Given the description of an element on the screen output the (x, y) to click on. 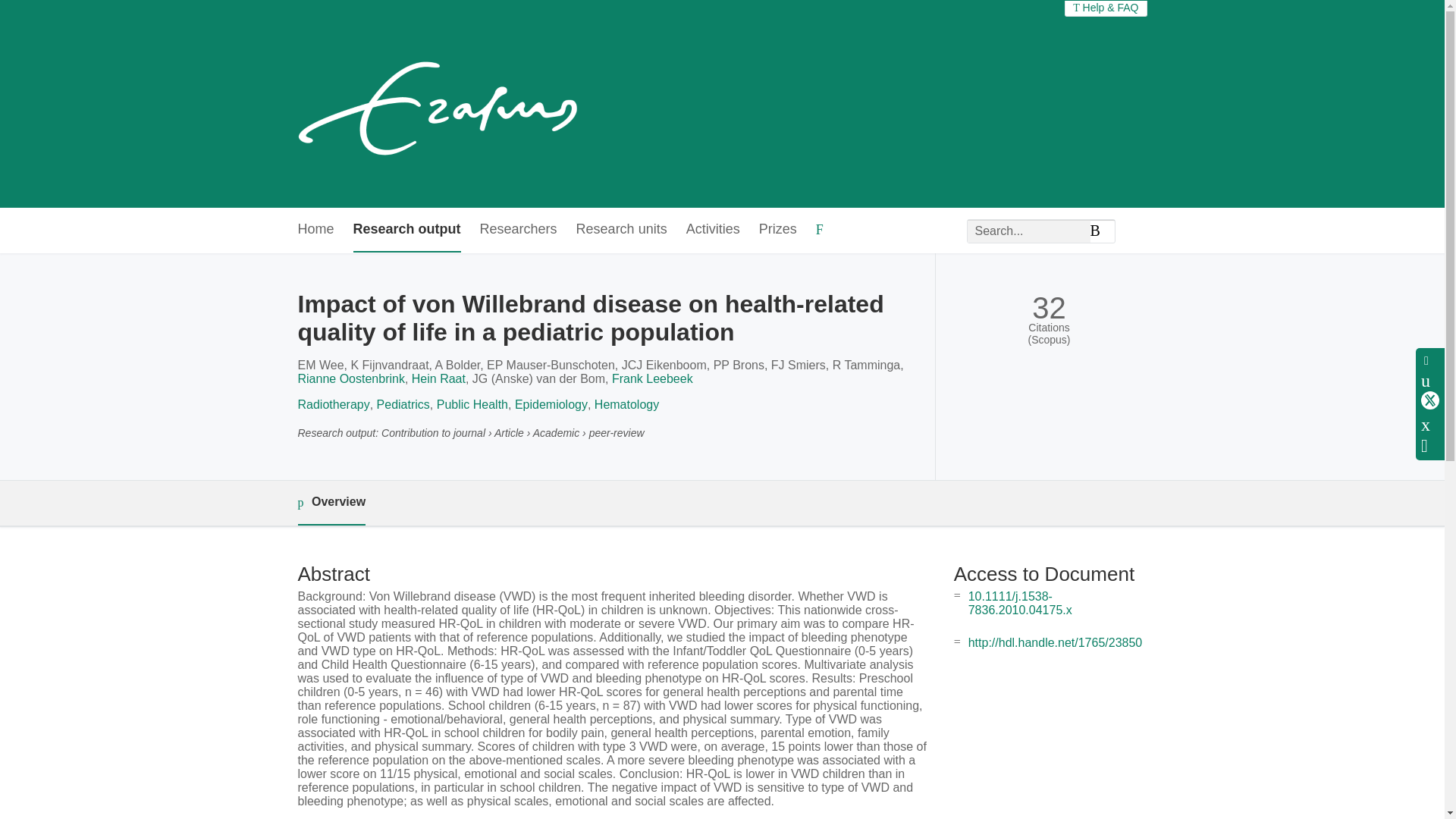
Rianne Oostenbrink (350, 378)
Epidemiology (551, 404)
Overview (331, 502)
Pediatrics (403, 404)
Hein Raat (438, 378)
Erasmus University Rotterdam Home (441, 103)
Radiotherapy (333, 404)
Frank Leebeek (652, 378)
Public Health (472, 404)
Research units (621, 230)
Researchers (518, 230)
Activities (712, 230)
Hematology (626, 404)
Research output (407, 230)
